Given the description of an element on the screen output the (x, y) to click on. 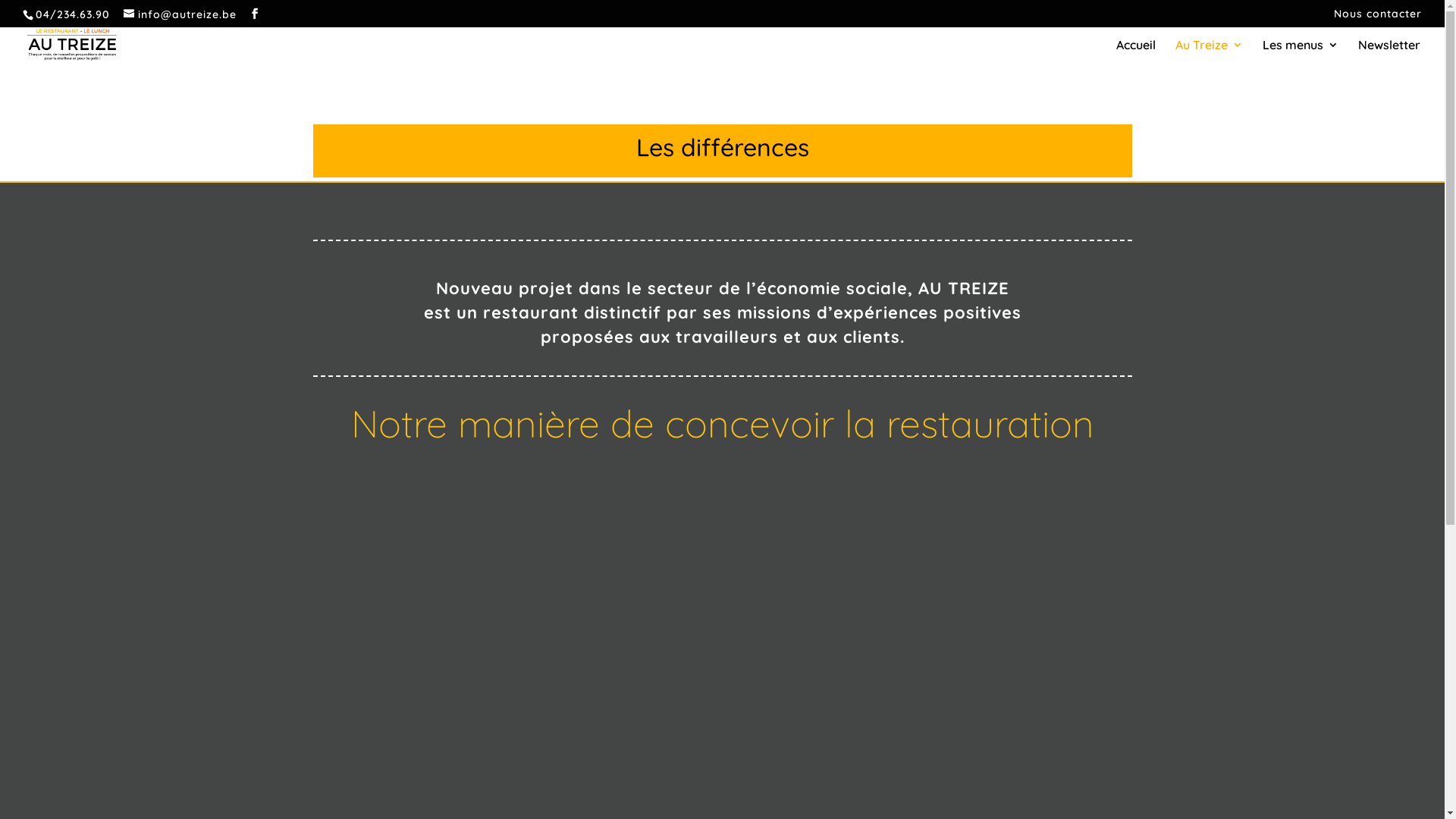
Nous contacter Element type: text (1377, 16)
Au Treize Element type: text (1208, 52)
info@autreize.be Element type: text (179, 14)
Les menus Element type: text (1300, 52)
Newsletter Element type: text (1389, 52)
Accueil Element type: text (1135, 52)
